Given the description of an element on the screen output the (x, y) to click on. 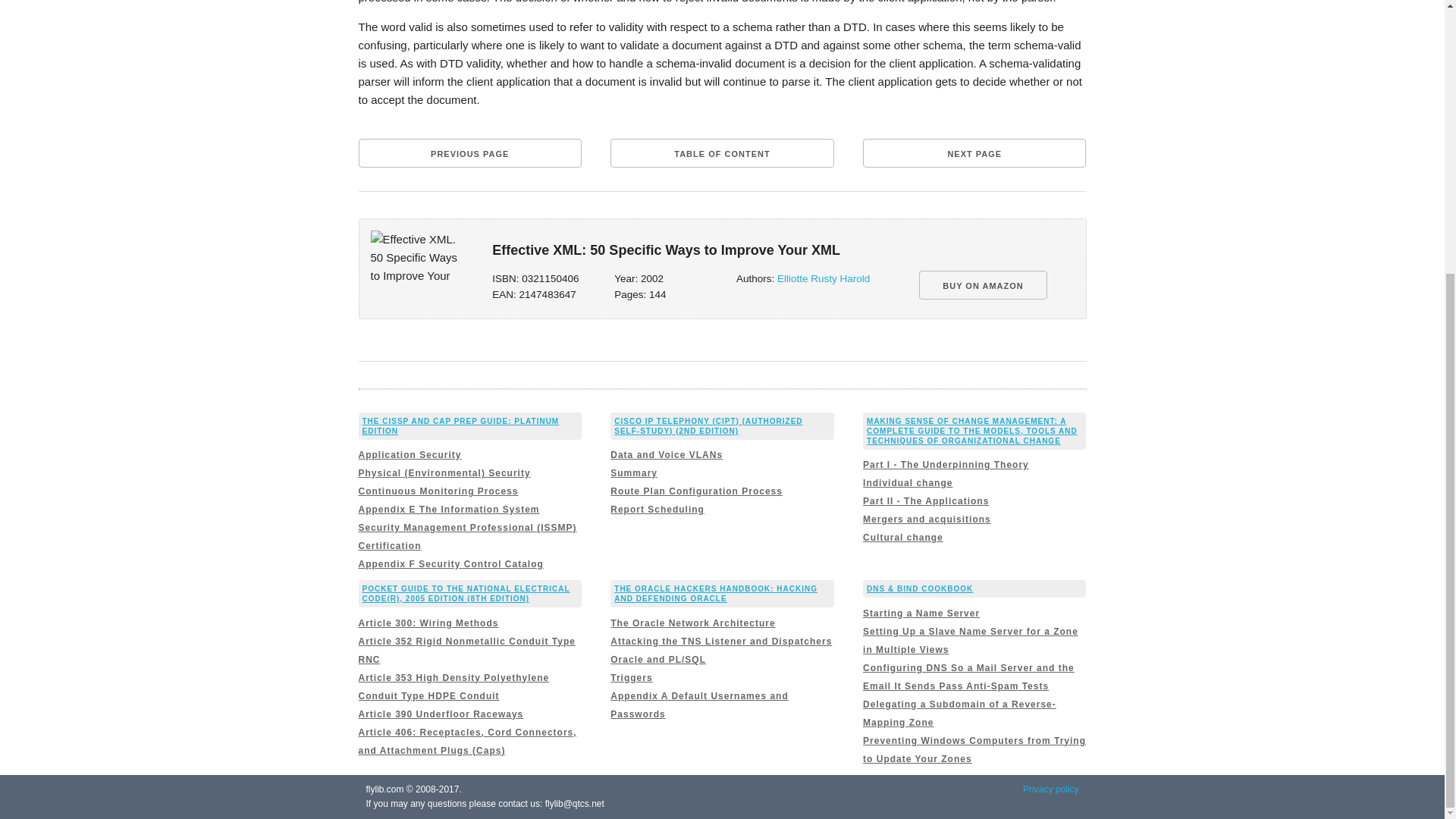
Effective XML. 50 Specific Ways to Improve Your XML (416, 258)
Mergers and acquisitions (927, 519)
Report Scheduling (657, 509)
Data and Voice VLANs (666, 454)
Article 300: Wiring Methods (427, 623)
THE CISSP AND CAP PREP GUIDE: PLATINUM EDITION (460, 425)
Appendix F Security Control Catalog (450, 563)
PREVIOUS PAGE (469, 152)
The Oracle Network Architecture (692, 623)
Appendix A Default Usernames and Passwords (699, 705)
Article 352 Rigid Nonmetallic Conduit Type RNC (466, 650)
Route Plan Configuration Process (696, 491)
THE ORACLE HACKERS HANDBOOK: HACKING AND DEFENDING ORACLE (715, 593)
TABLE OF CONTENT (721, 152)
Article 390 Underfloor Raceways (440, 714)
